Given the description of an element on the screen output the (x, y) to click on. 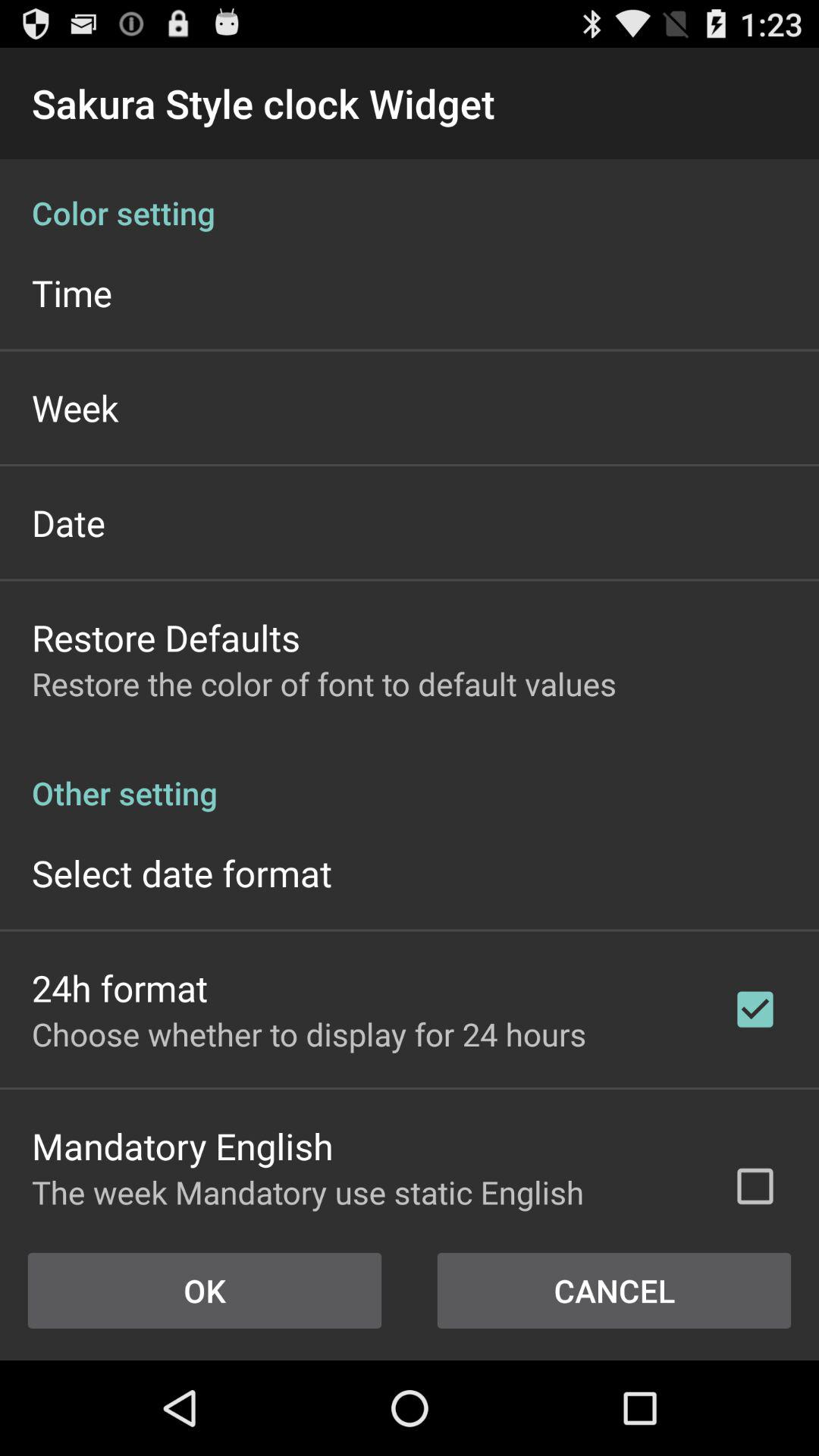
open the item below the restore the color app (409, 776)
